Given the description of an element on the screen output the (x, y) to click on. 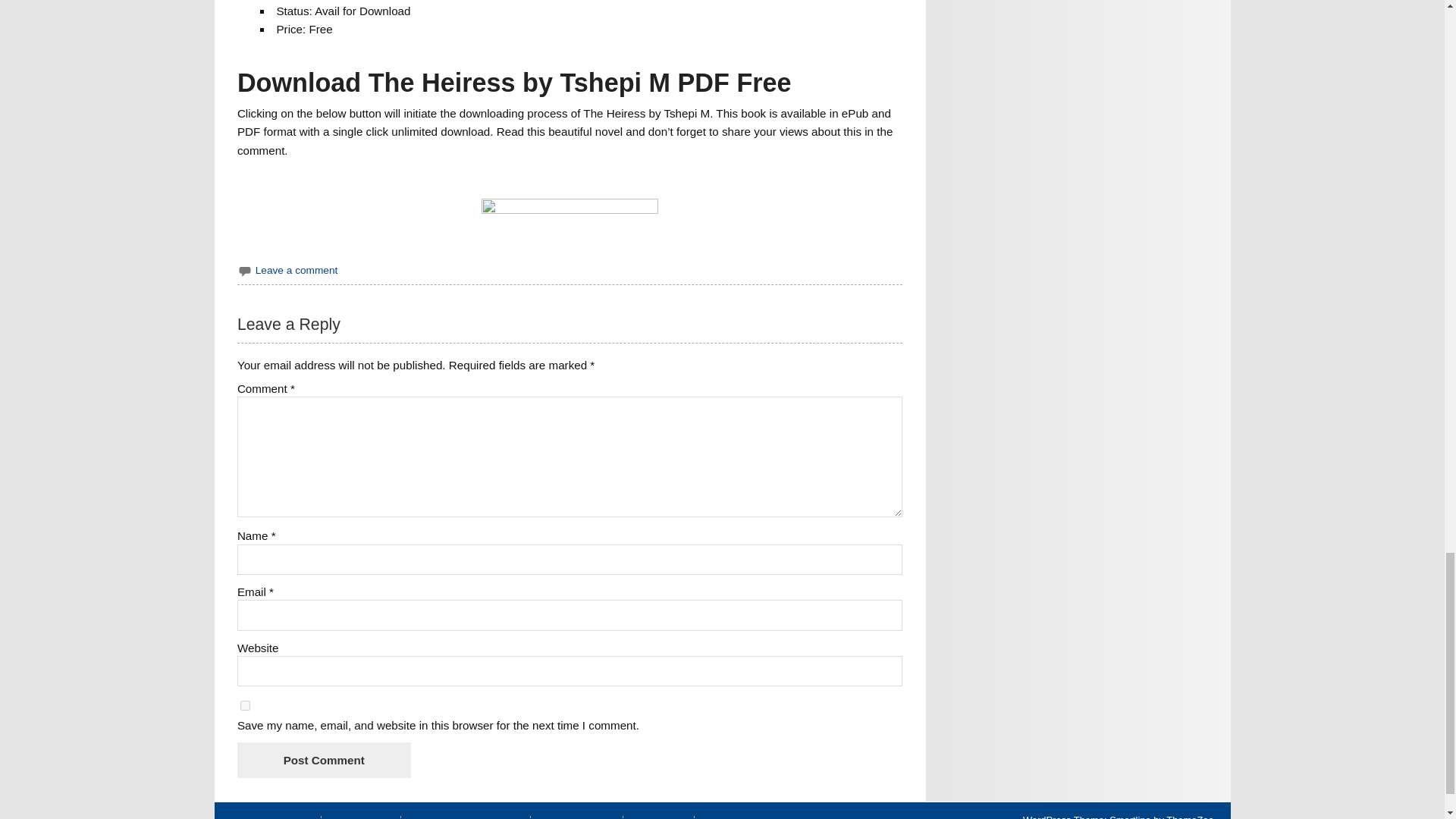
Leave a comment (296, 270)
Post Comment (323, 760)
Post Comment (323, 760)
yes (245, 705)
